Given the description of an element on the screen output the (x, y) to click on. 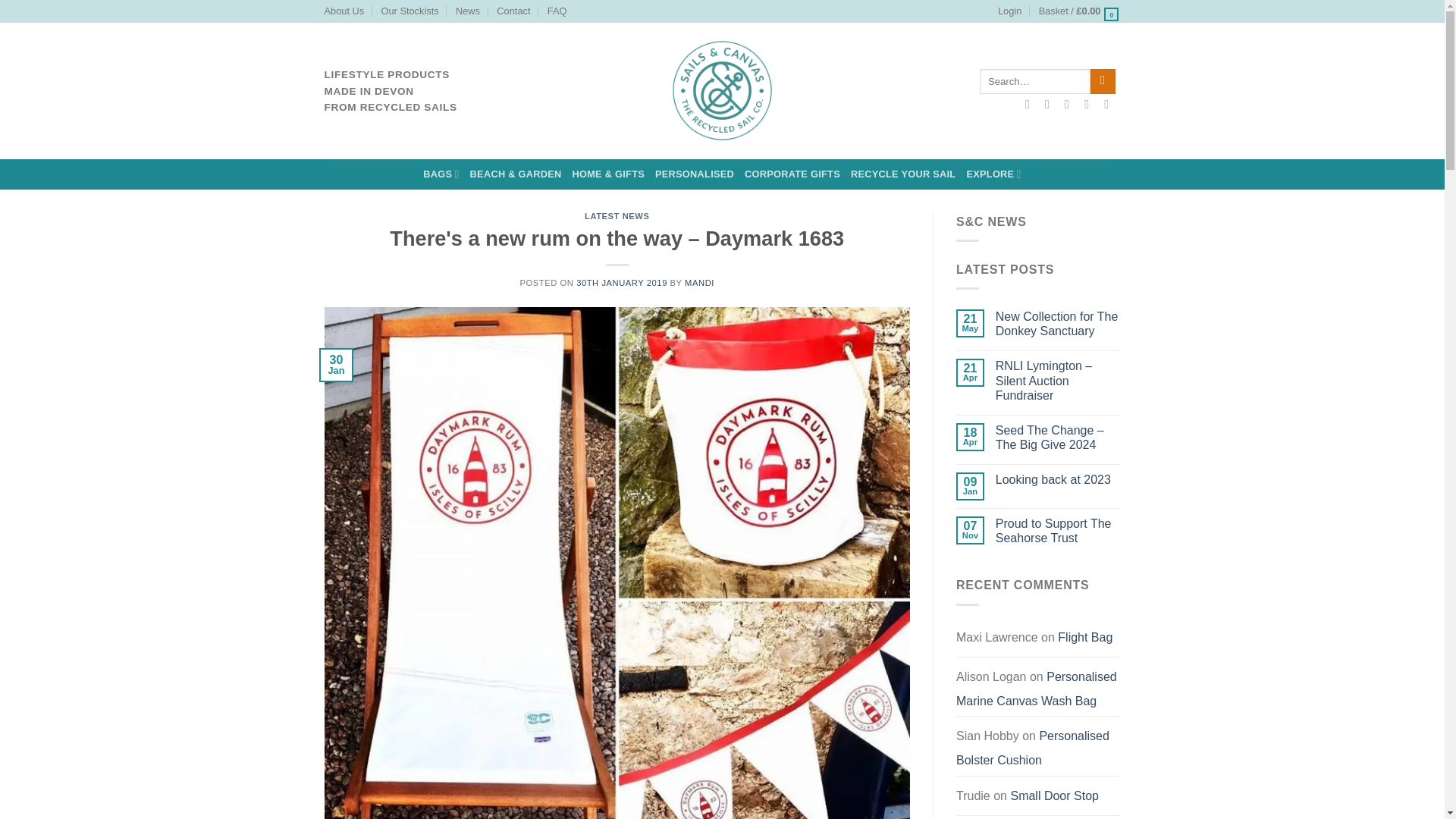
News (467, 11)
Our Stockists (410, 11)
LATEST NEWS (617, 215)
Contact (512, 11)
CORPORATE GIFTS (792, 174)
30TH JANUARY 2019 (621, 282)
About Us (344, 11)
Search (1102, 81)
MANDI (699, 282)
Send us an email (1090, 103)
